Given the description of an element on the screen output the (x, y) to click on. 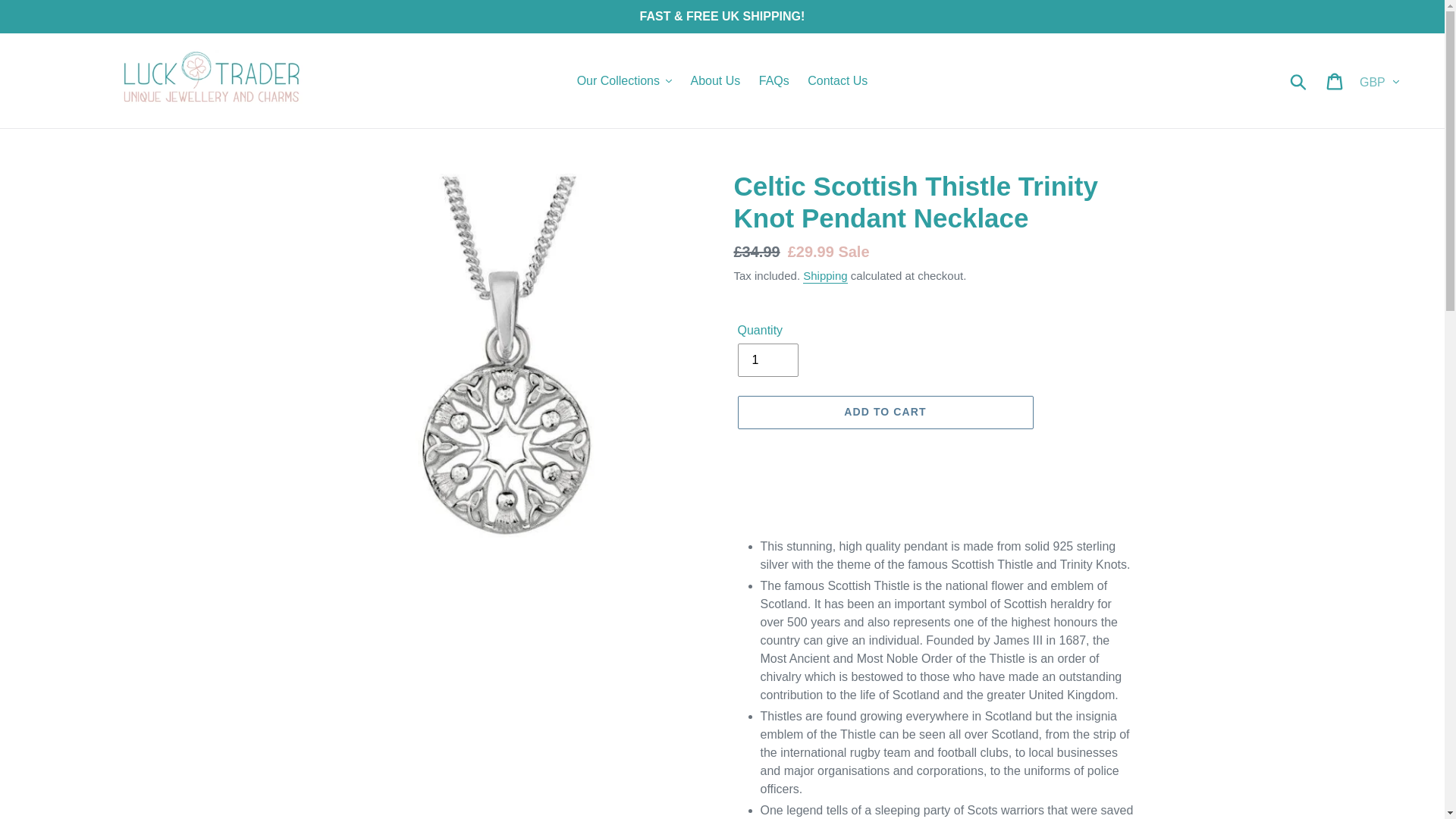
About Us (715, 80)
Submit (1299, 80)
Cart (1335, 80)
1 (766, 359)
FAQs (773, 80)
Contact Us (837, 80)
